Given the description of an element on the screen output the (x, y) to click on. 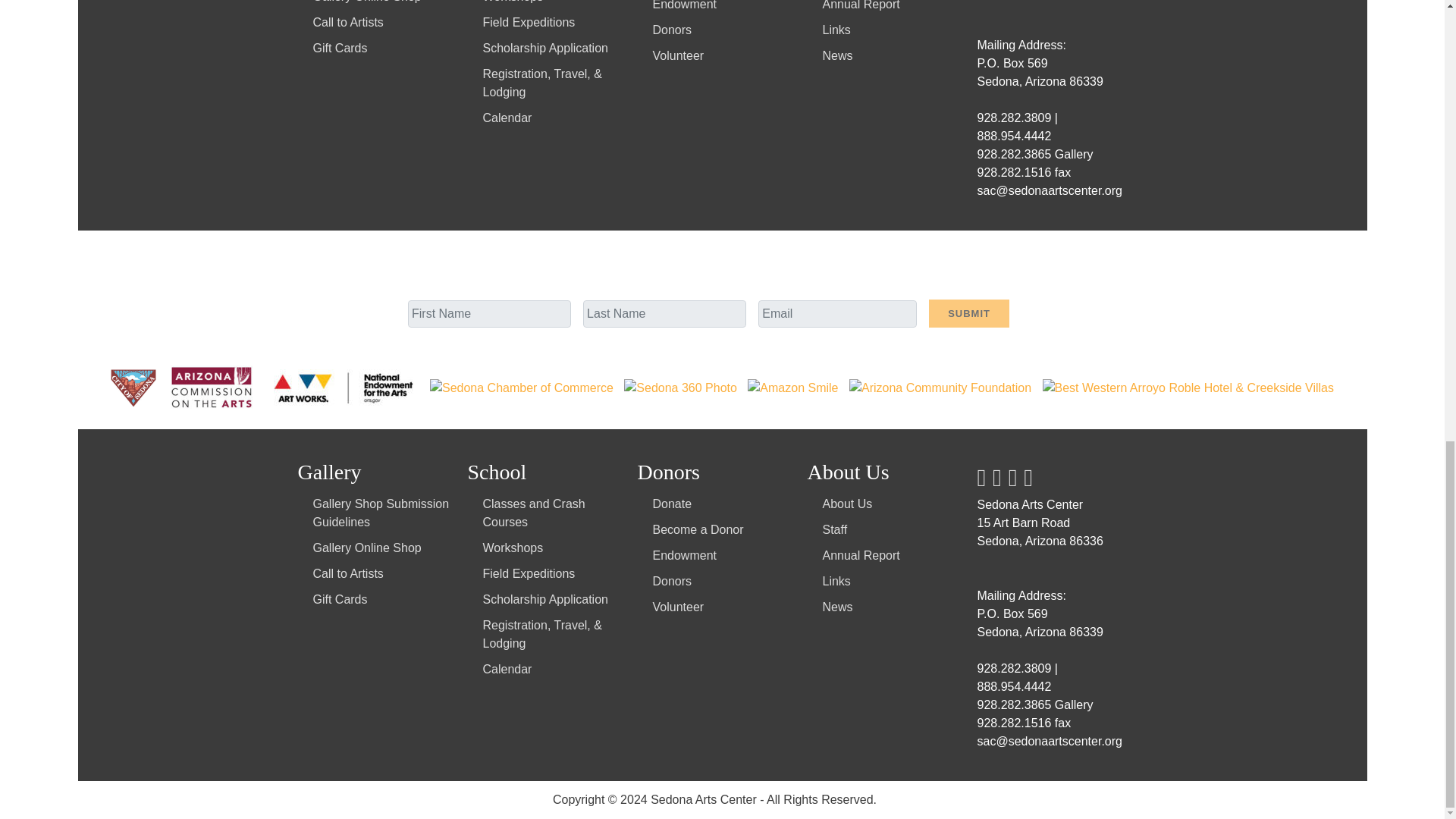
Submit (968, 313)
Arizona Commission on the Arts (213, 387)
City of Sedona (134, 387)
National Endowment for the Arts (344, 387)
